Given the description of an element on the screen output the (x, y) to click on. 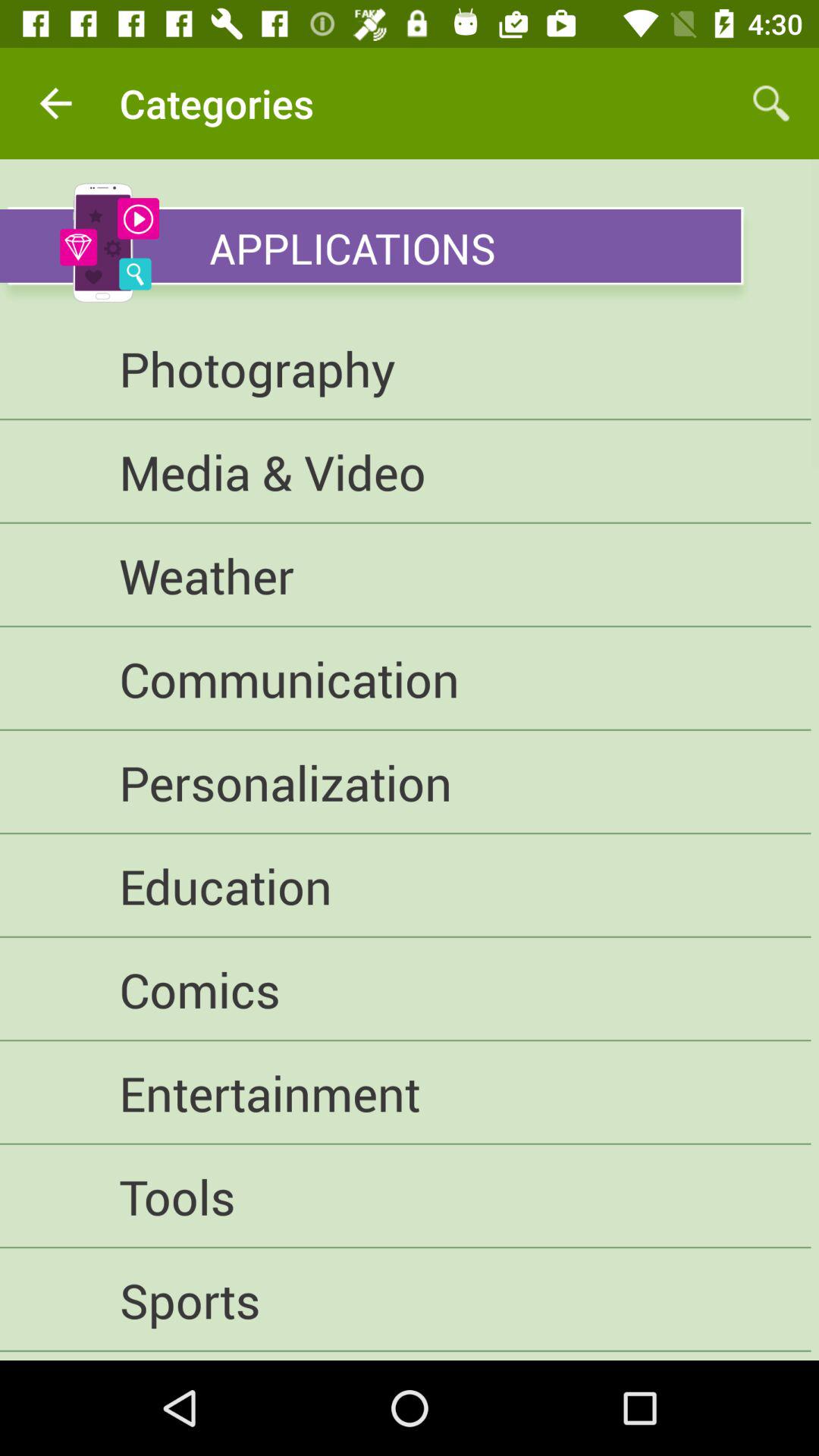
jump to entertainment item (405, 1092)
